Given the description of an element on the screen output the (x, y) to click on. 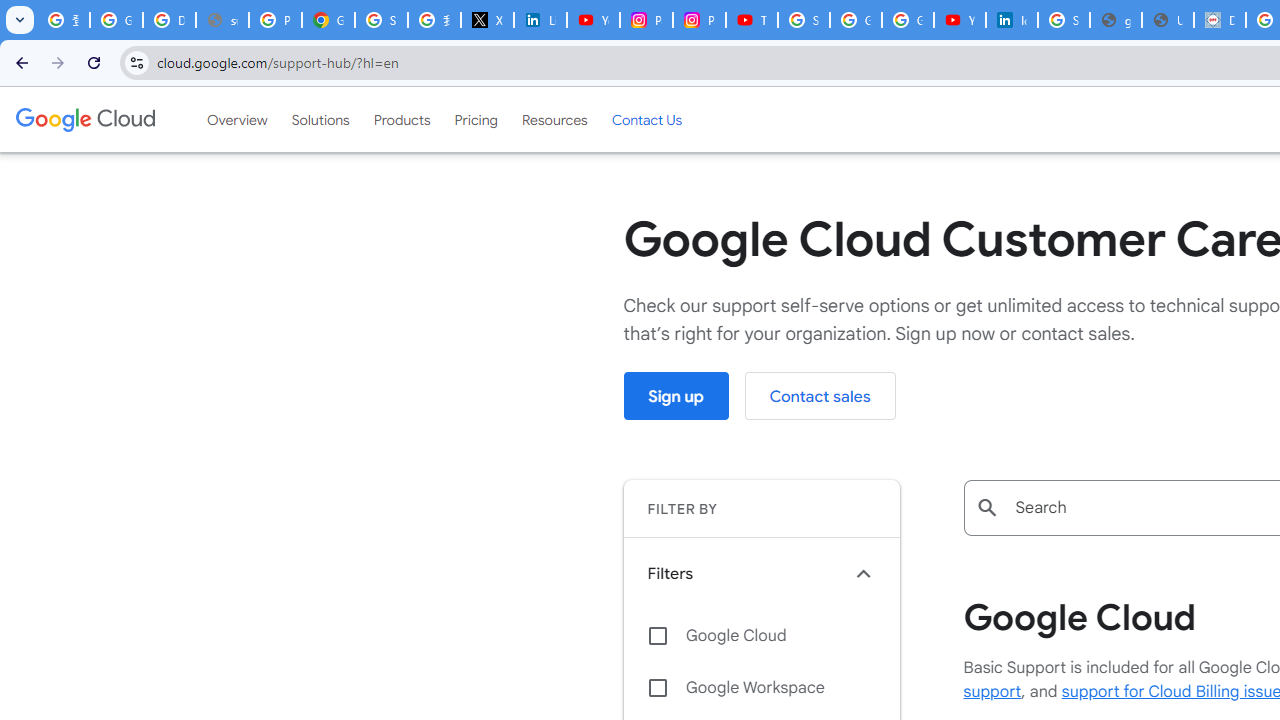
User Details (1167, 20)
Contact sales (819, 395)
Sign up (676, 395)
X (487, 20)
Google Cloud (84, 119)
Sign in - Google Accounts (803, 20)
Google Cloud (761, 635)
